Given the description of an element on the screen output the (x, y) to click on. 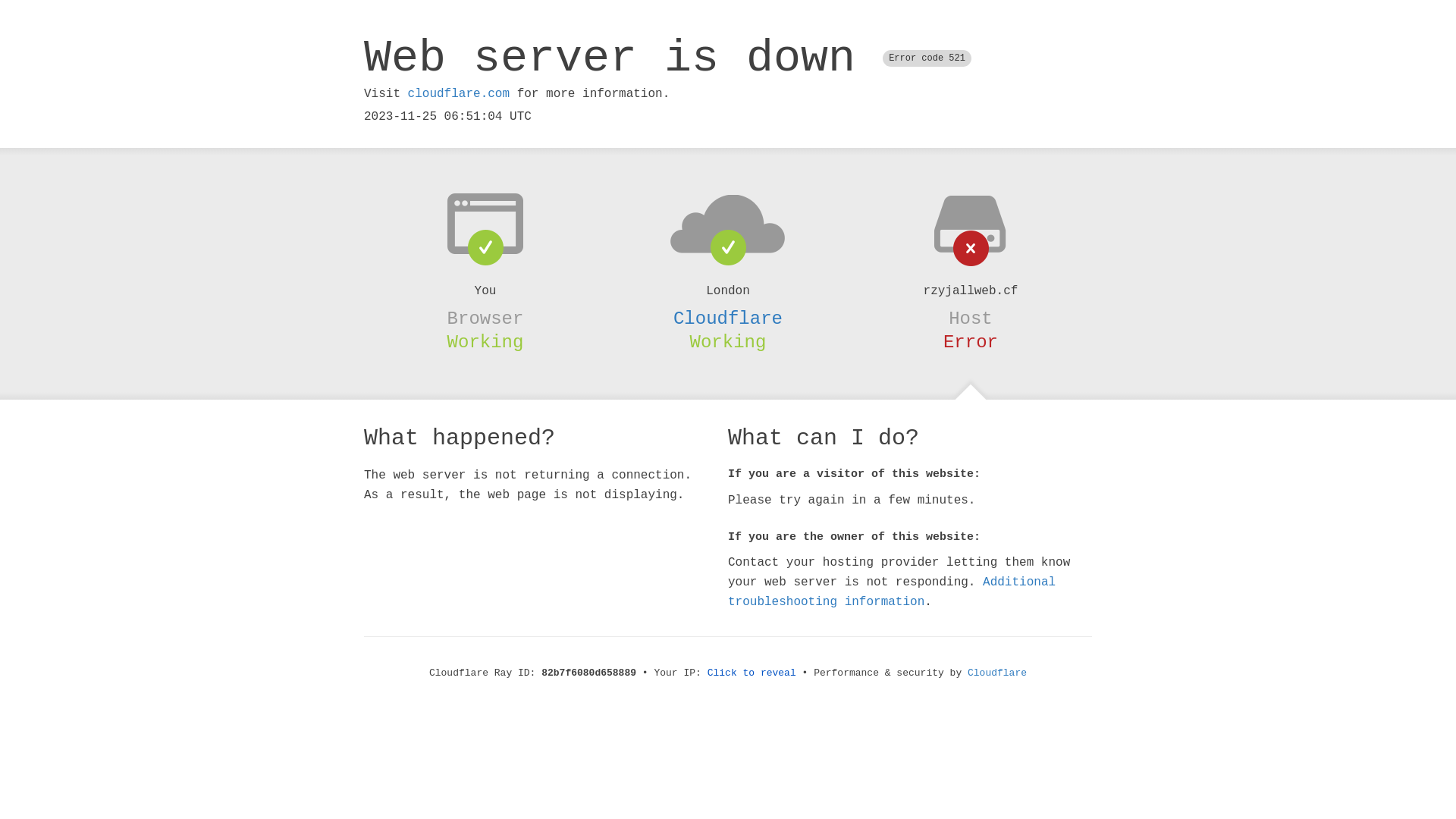
Cloudflare Element type: text (996, 672)
Cloudflare Element type: text (727, 318)
Additional troubleshooting information Element type: text (891, 591)
Click to reveal Element type: text (751, 672)
cloudflare.com Element type: text (458, 93)
